Given the description of an element on the screen output the (x, y) to click on. 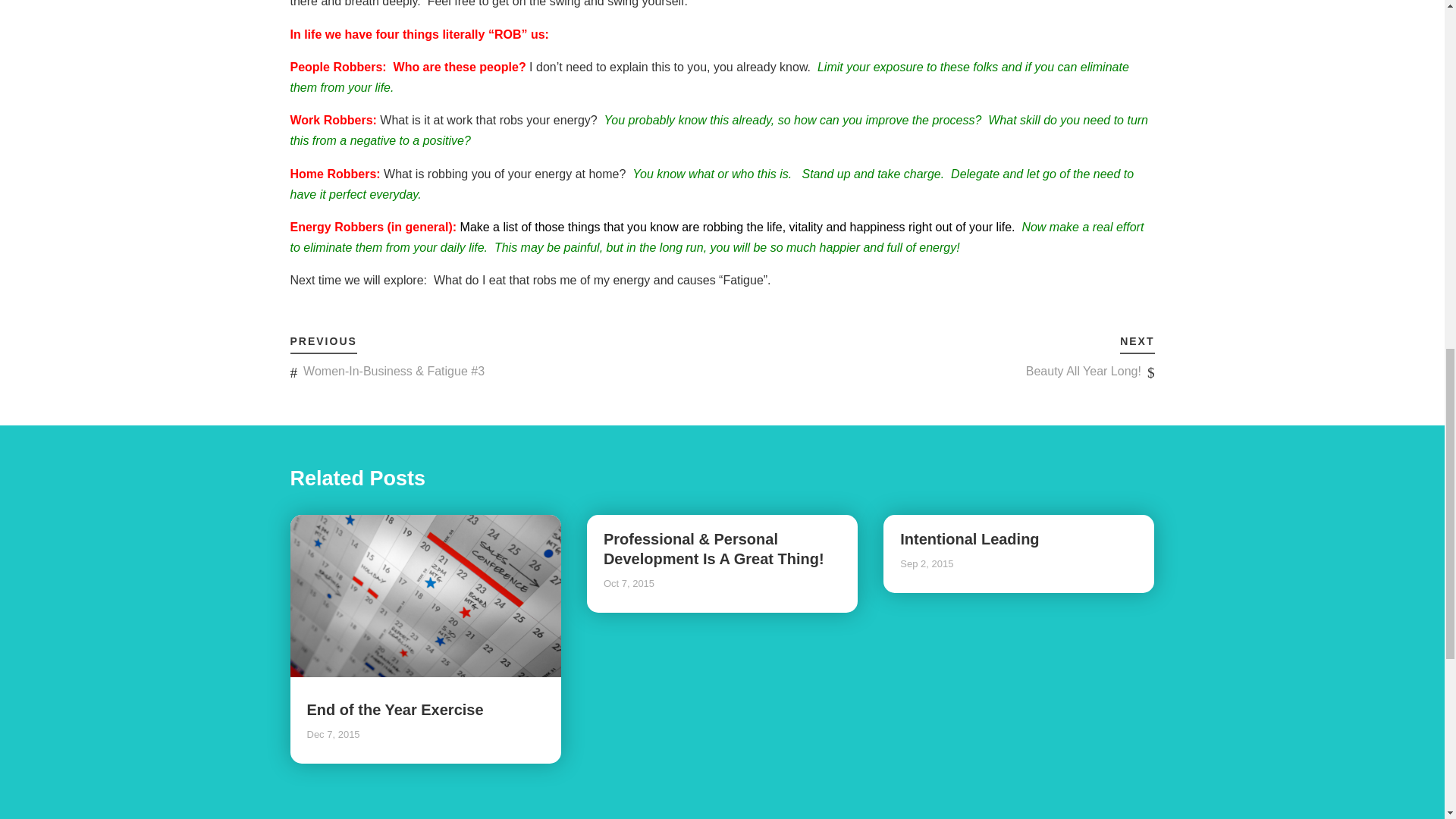
Intentional Leading (969, 538)
Beauty All Year Long! (1083, 370)
End of the Year Exercise (394, 709)
